Given the description of an element on the screen output the (x, y) to click on. 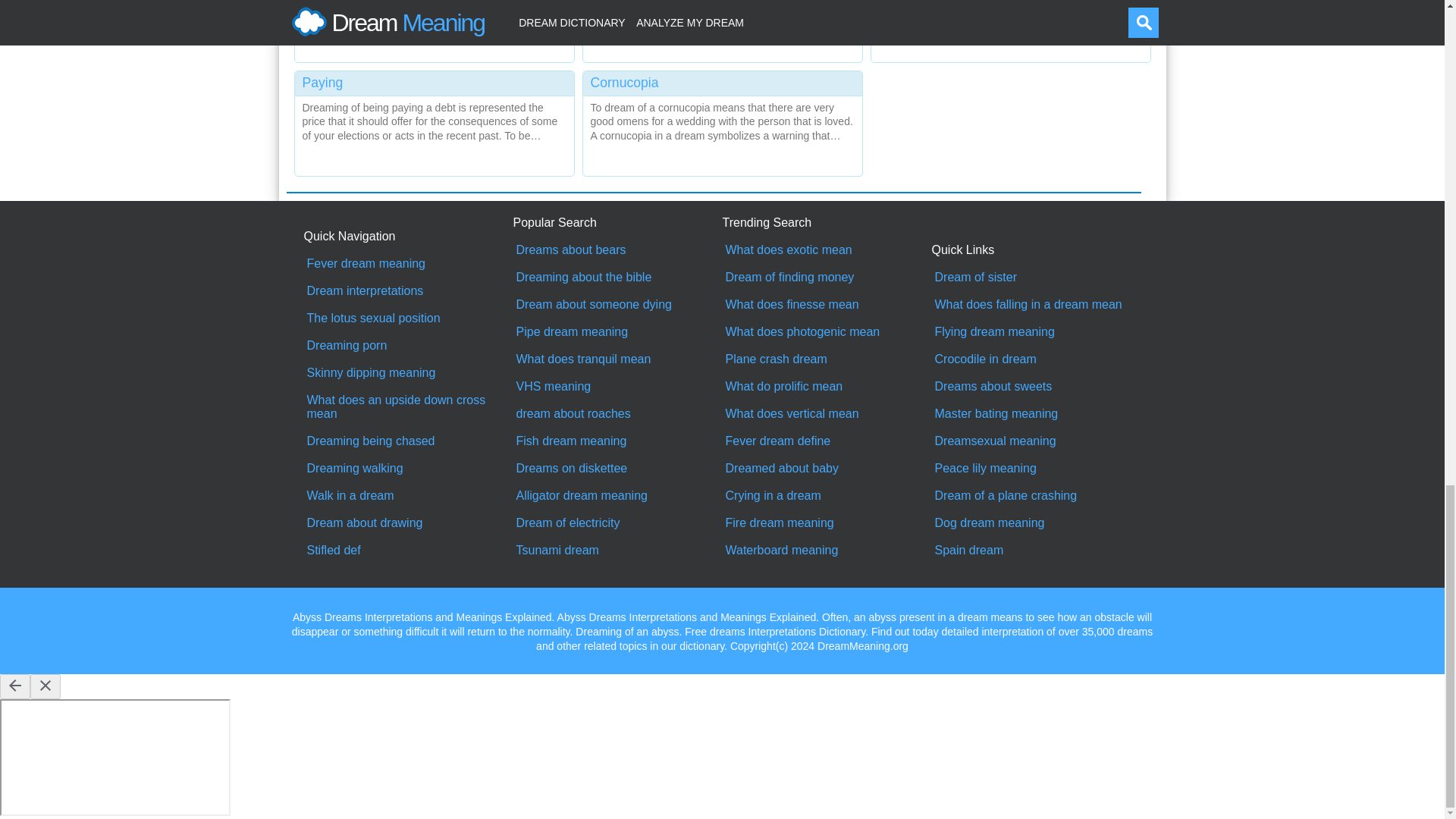
Ashes Dream Meaning (433, 27)
Dreaming porn (407, 345)
Dream interpretations (407, 291)
Pipe dream meaning (617, 332)
The lotus sexual position (407, 318)
What does tranquil mean (617, 359)
dream about roaches (617, 413)
Dream about someone dying (617, 305)
Dreaming walking (407, 468)
Walk in a dream (407, 495)
What does an upside down cross mean (407, 406)
Dreams about bears (617, 250)
Dream about drawing (407, 522)
Dreaming being chased (407, 440)
Skinny dipping meaning (407, 373)
